Given the description of an element on the screen output the (x, y) to click on. 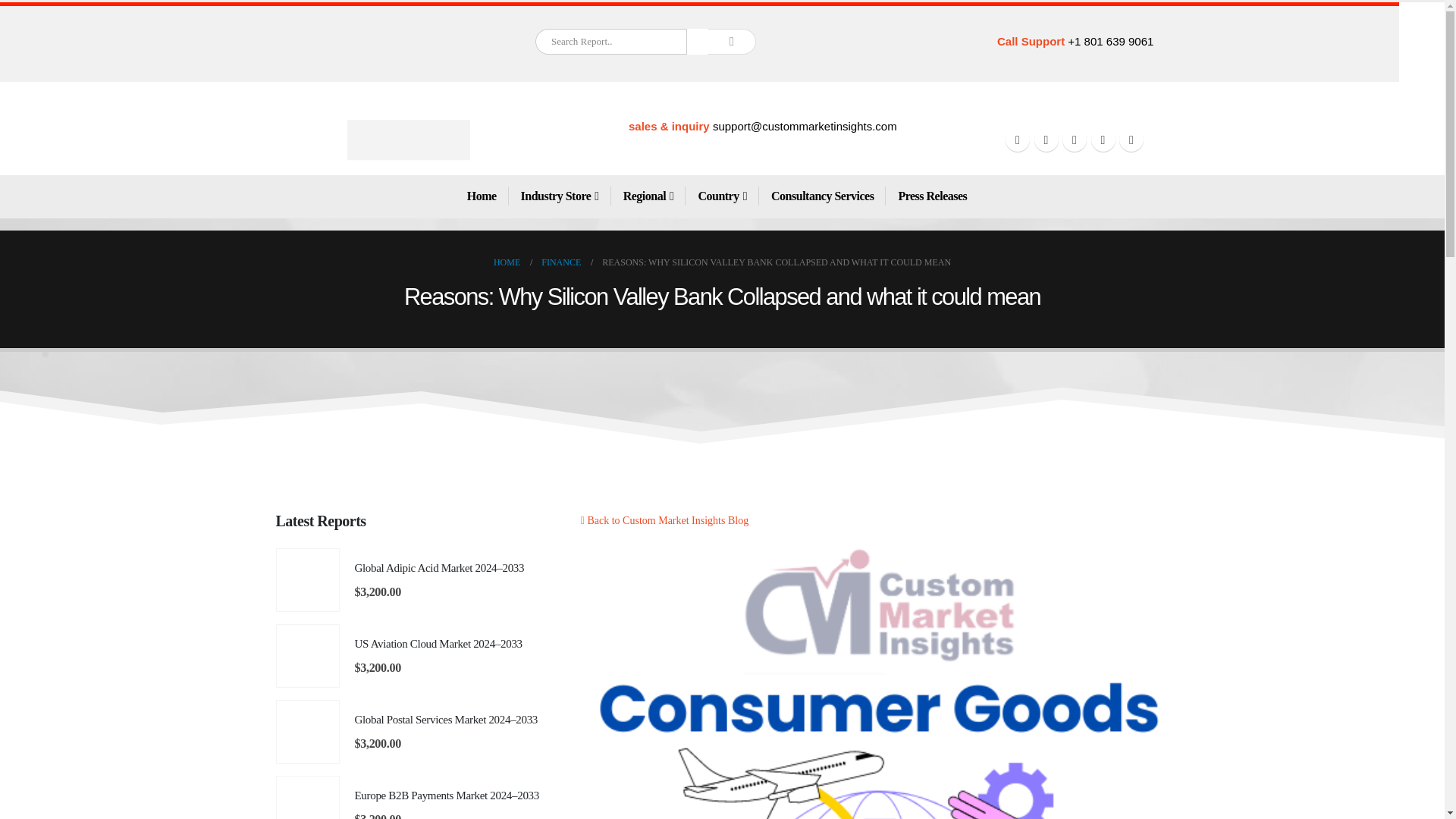
Go to Home Page (506, 262)
Youtube (1074, 139)
LinkedIn (1130, 139)
Facebook (1017, 139)
Search (731, 41)
Home (481, 195)
Custom Market Insights -  (408, 139)
Industry Store (560, 195)
Instagram (1102, 139)
Pinterest (1045, 139)
